Given the description of an element on the screen output the (x, y) to click on. 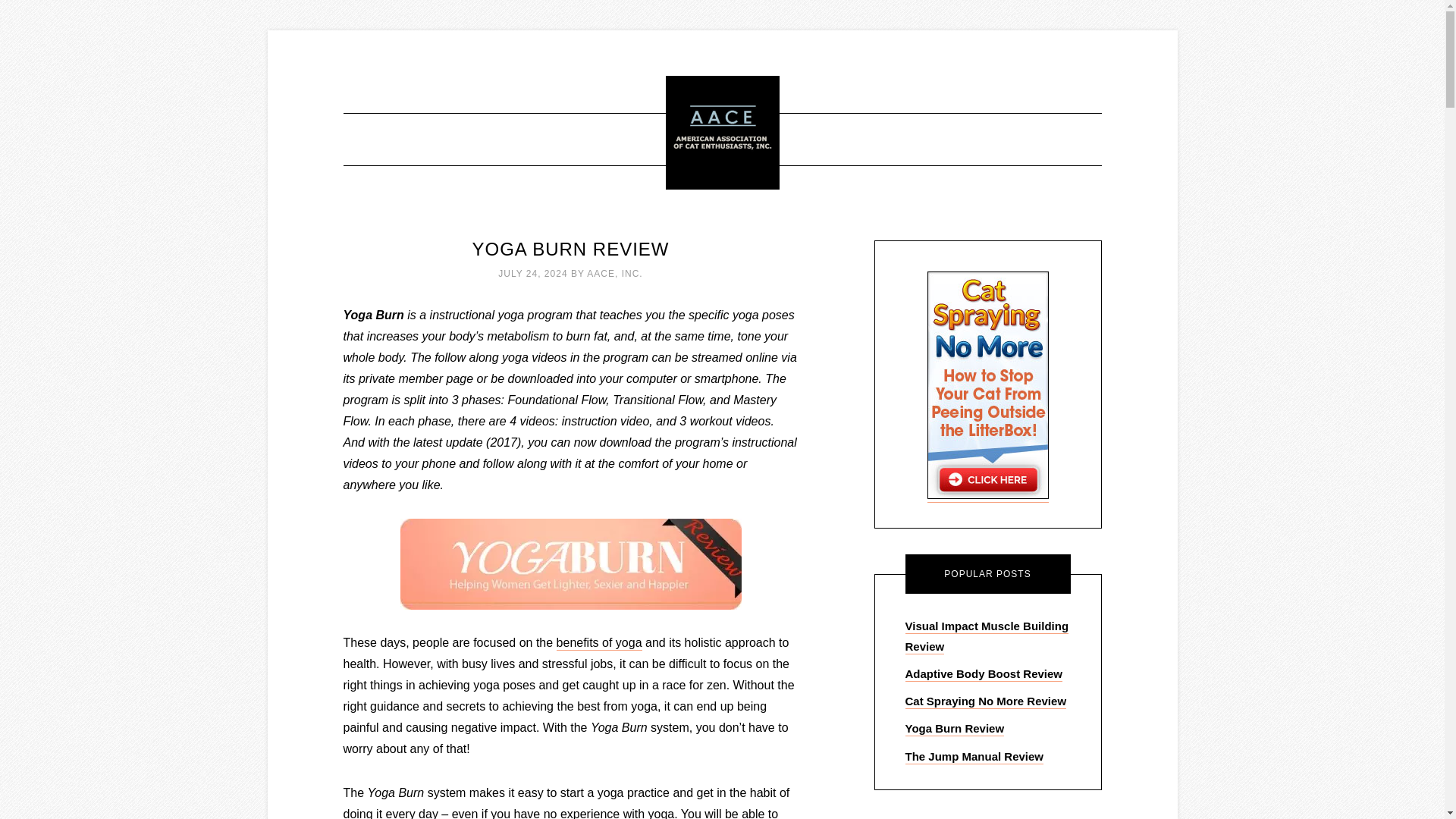
benefits of yoga (599, 643)
Adaptive Body Boost Review (983, 674)
Cat Spraying No More Review (986, 701)
Visual Impact Muscle Building Review (986, 636)
AMERICAN ASSOCIATION OF CAT ENTHUSIASTS (721, 132)
Yoga Burn Review (954, 728)
AACE, INC. (614, 273)
The Jump Manual Review (974, 756)
